Given the description of an element on the screen output the (x, y) to click on. 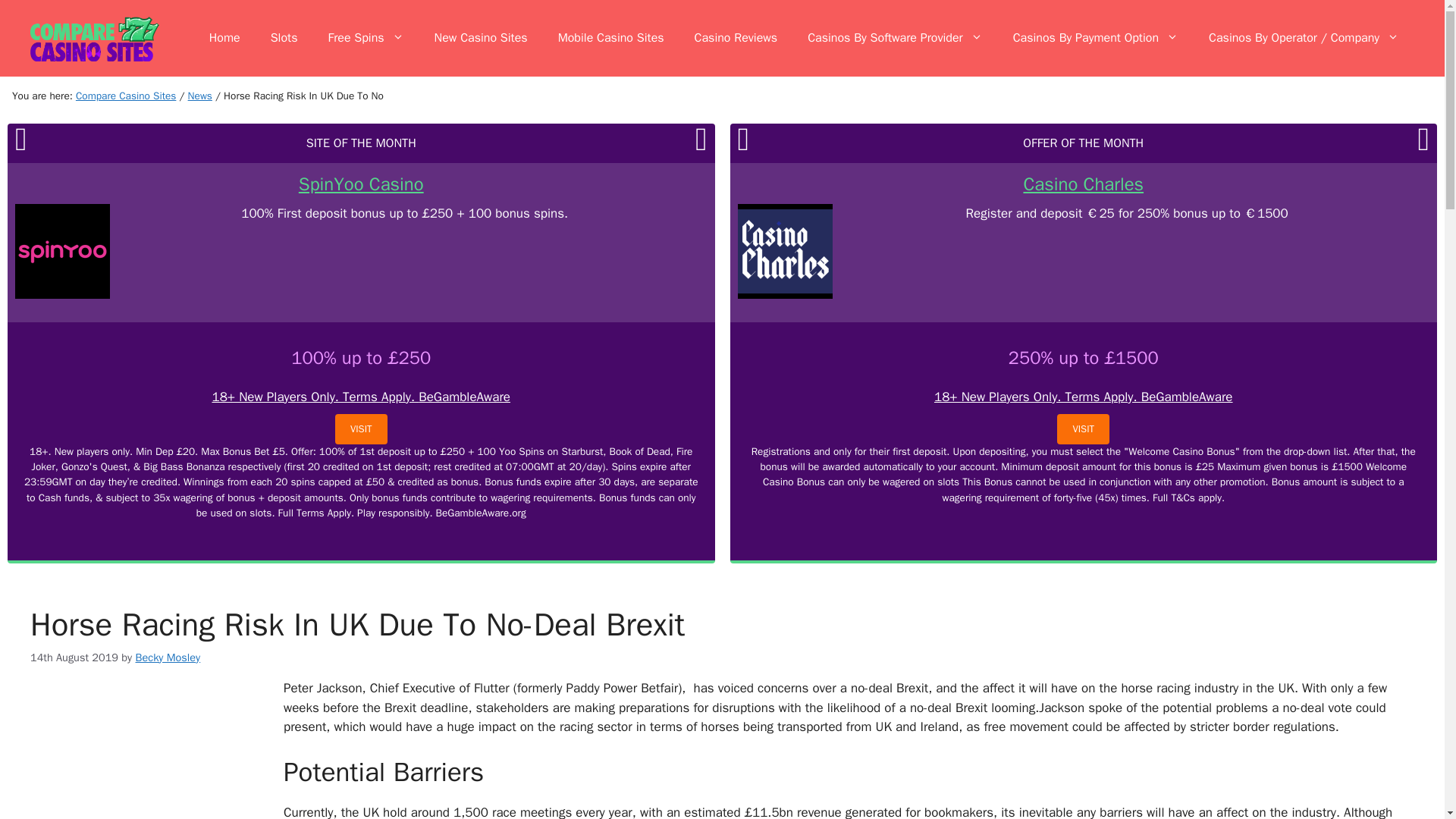
Item (199, 95)
Home (224, 37)
View all posts by Becky Mosley (167, 657)
New Casino Sites (481, 37)
Casinos By Payment Option (1095, 37)
News (199, 95)
Mobile Casino Sites (611, 37)
Slots (284, 37)
Compare Casino Sites (125, 95)
Casino Reviews (736, 37)
